Given the description of an element on the screen output the (x, y) to click on. 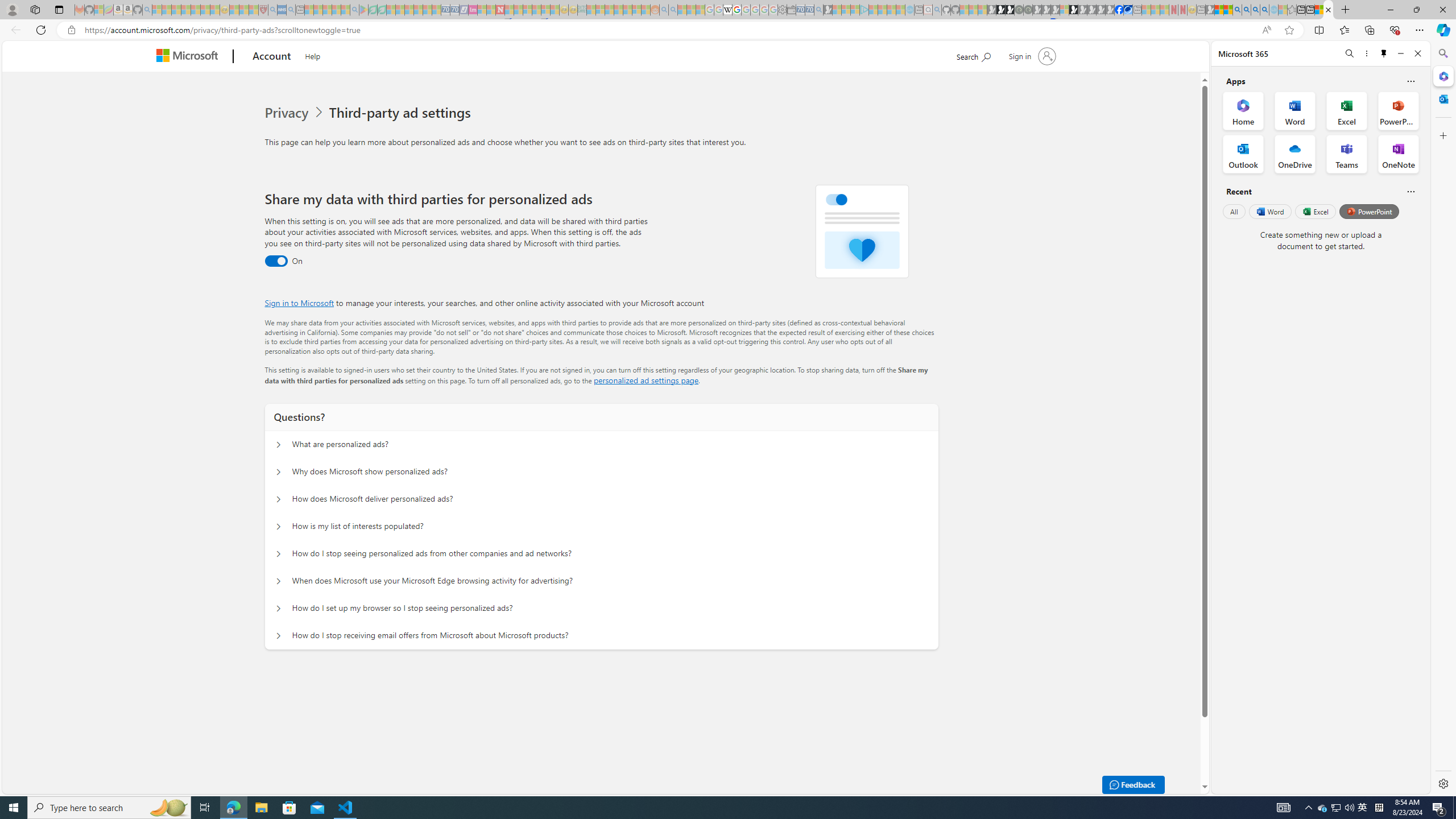
Sign in to your account - Sleeping (1064, 9)
Third party data sharing toggle (276, 260)
Account (272, 56)
Questions? How does Microsoft deliver personalized ads? (278, 499)
Third-party ad settings (402, 112)
Sign in to your account (1031, 55)
